Given the description of an element on the screen output the (x, y) to click on. 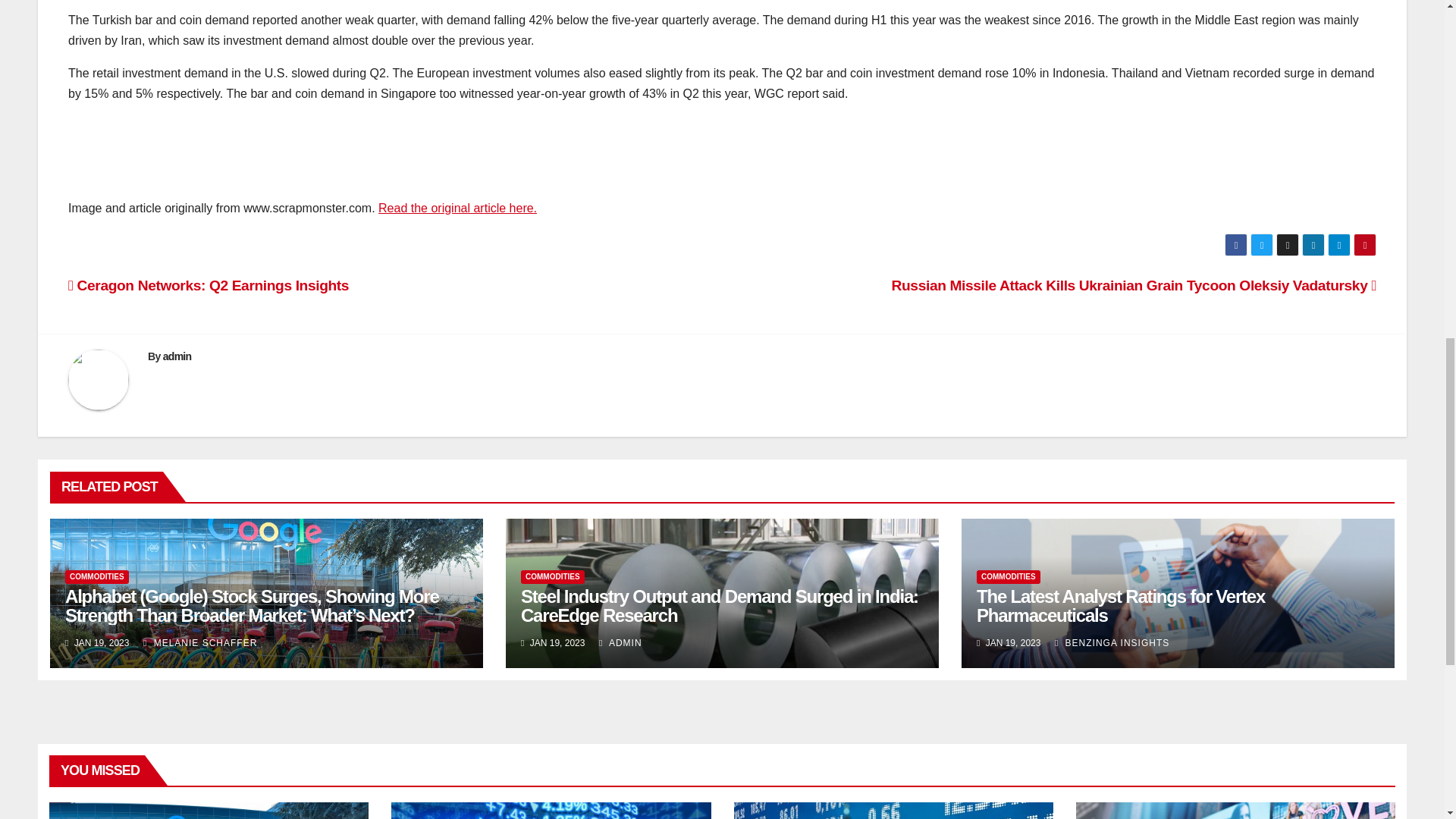
Ceragon Networks: Q2 Earnings Insights (208, 285)
COMMODITIES (553, 576)
Read the original article here. (457, 207)
admin (177, 356)
ADMIN (620, 643)
MELANIE SCHAFFER (199, 643)
COMMODITIES (97, 576)
COMMODITIES (1008, 576)
